Given the description of an element on the screen output the (x, y) to click on. 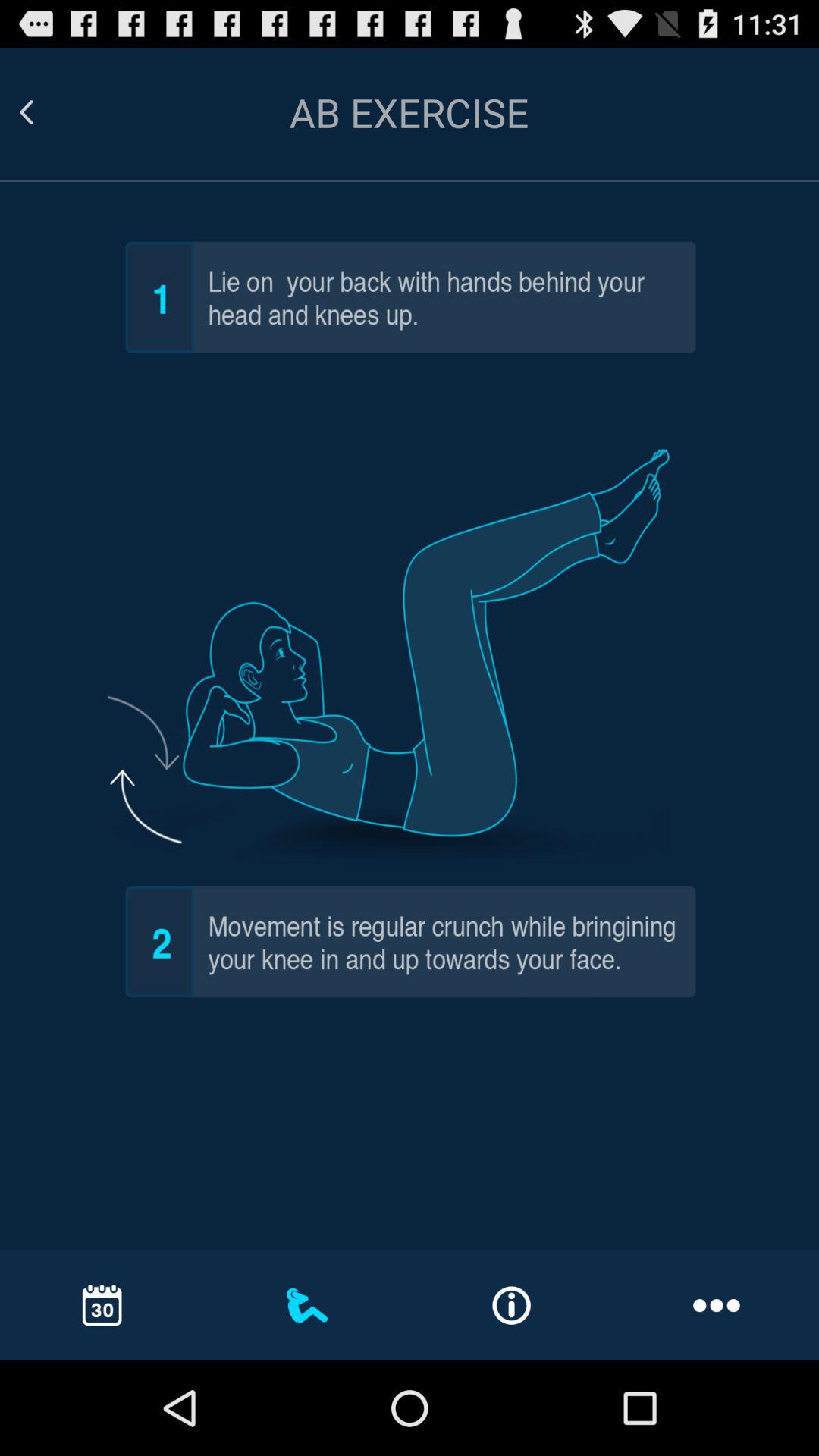
go back (44, 112)
